Given the description of an element on the screen output the (x, y) to click on. 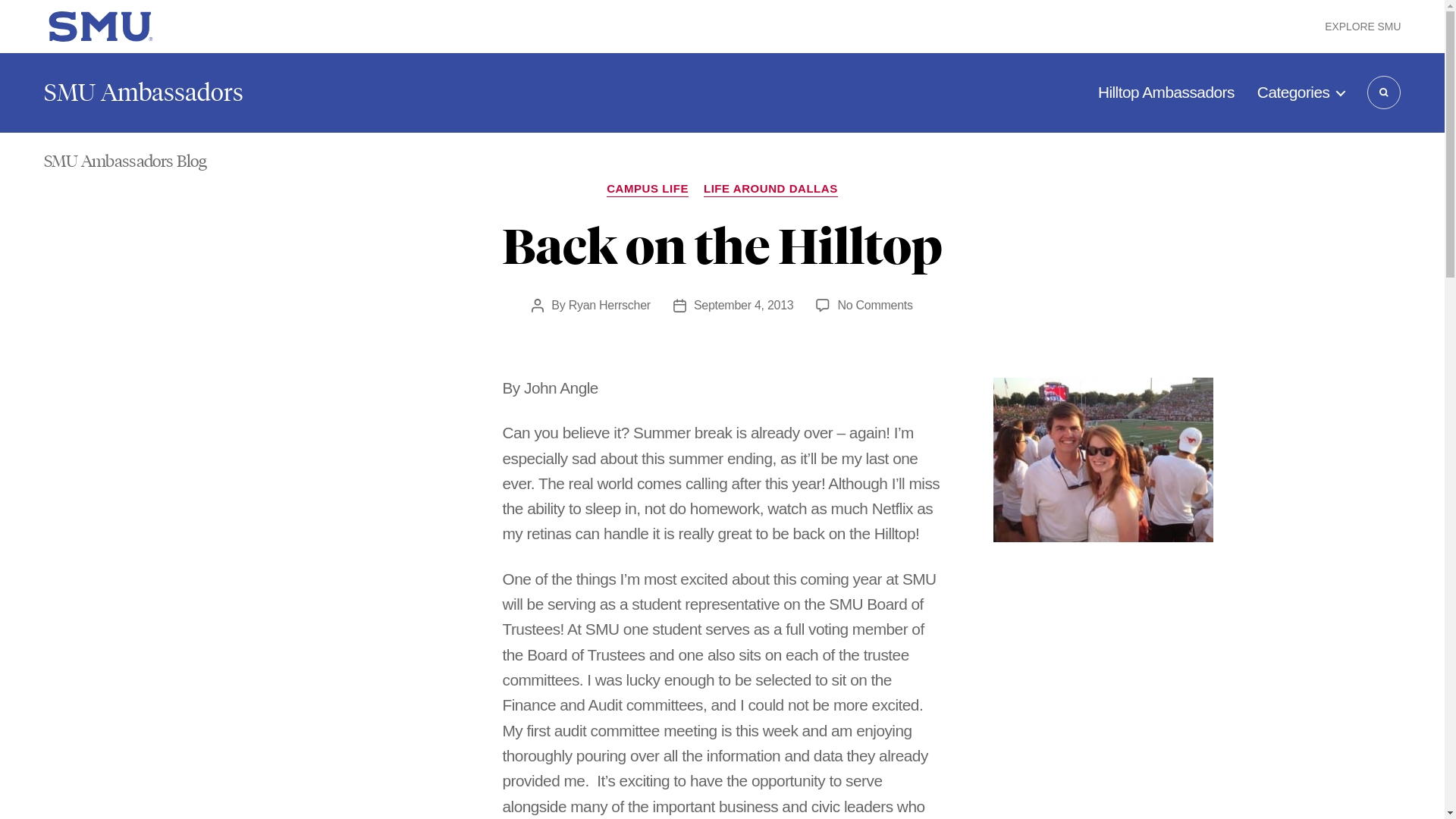
EXPLORE SMU (1362, 26)
SEARCH (1383, 92)
SMU Ambassadors (143, 92)
Categories (1301, 92)
Hilltop Ambassadors (1165, 92)
